Given the description of an element on the screen output the (x, y) to click on. 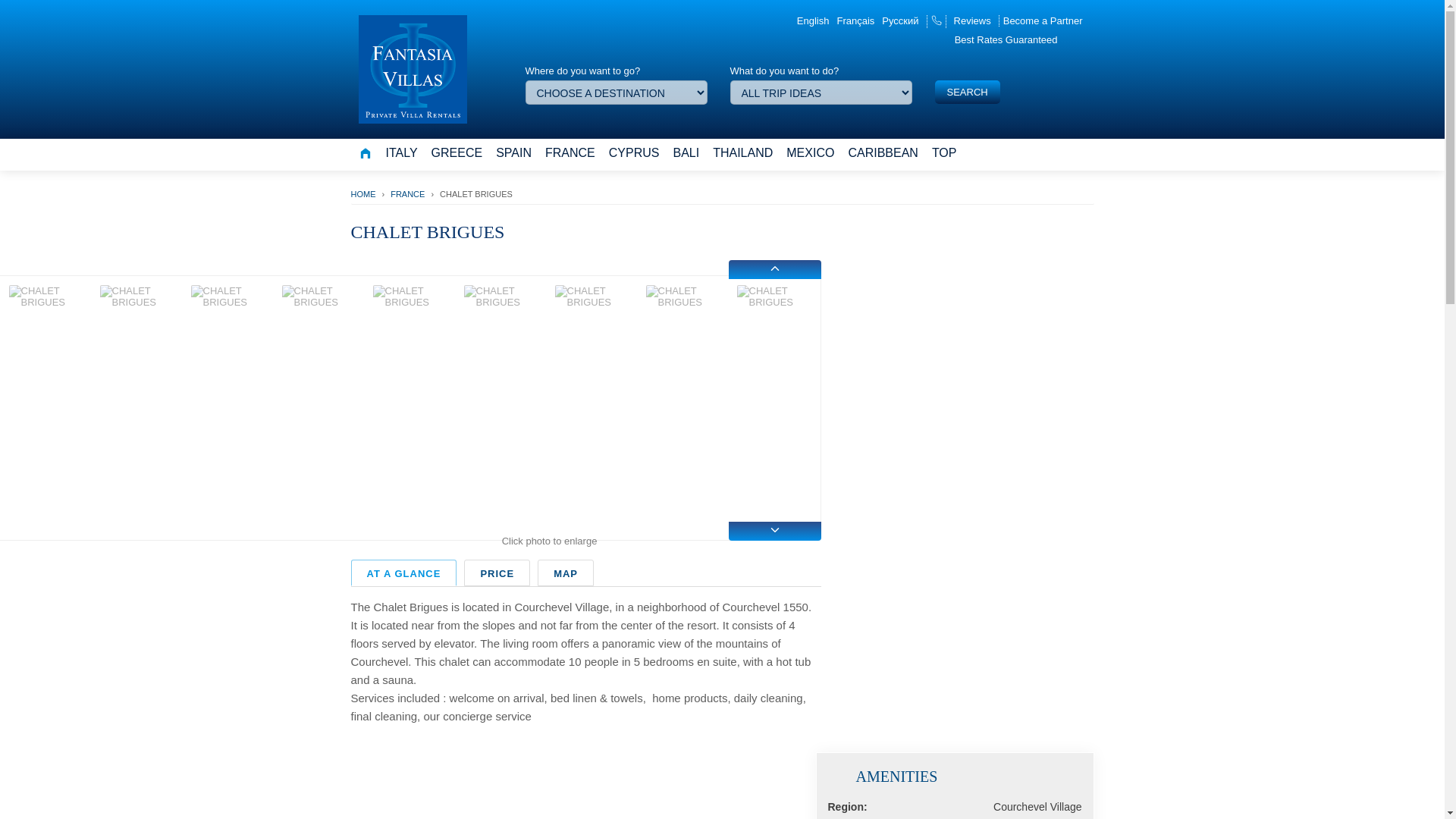
SPAIN (513, 152)
Search (966, 92)
Contact Us (936, 21)
Become a Partner (1043, 20)
Luxury Villa Rentals - Fantasia Villas (411, 69)
ITALY (400, 152)
GREECE (456, 152)
English (812, 20)
Search (966, 92)
Reviews (972, 20)
